Given the description of an element on the screen output the (x, y) to click on. 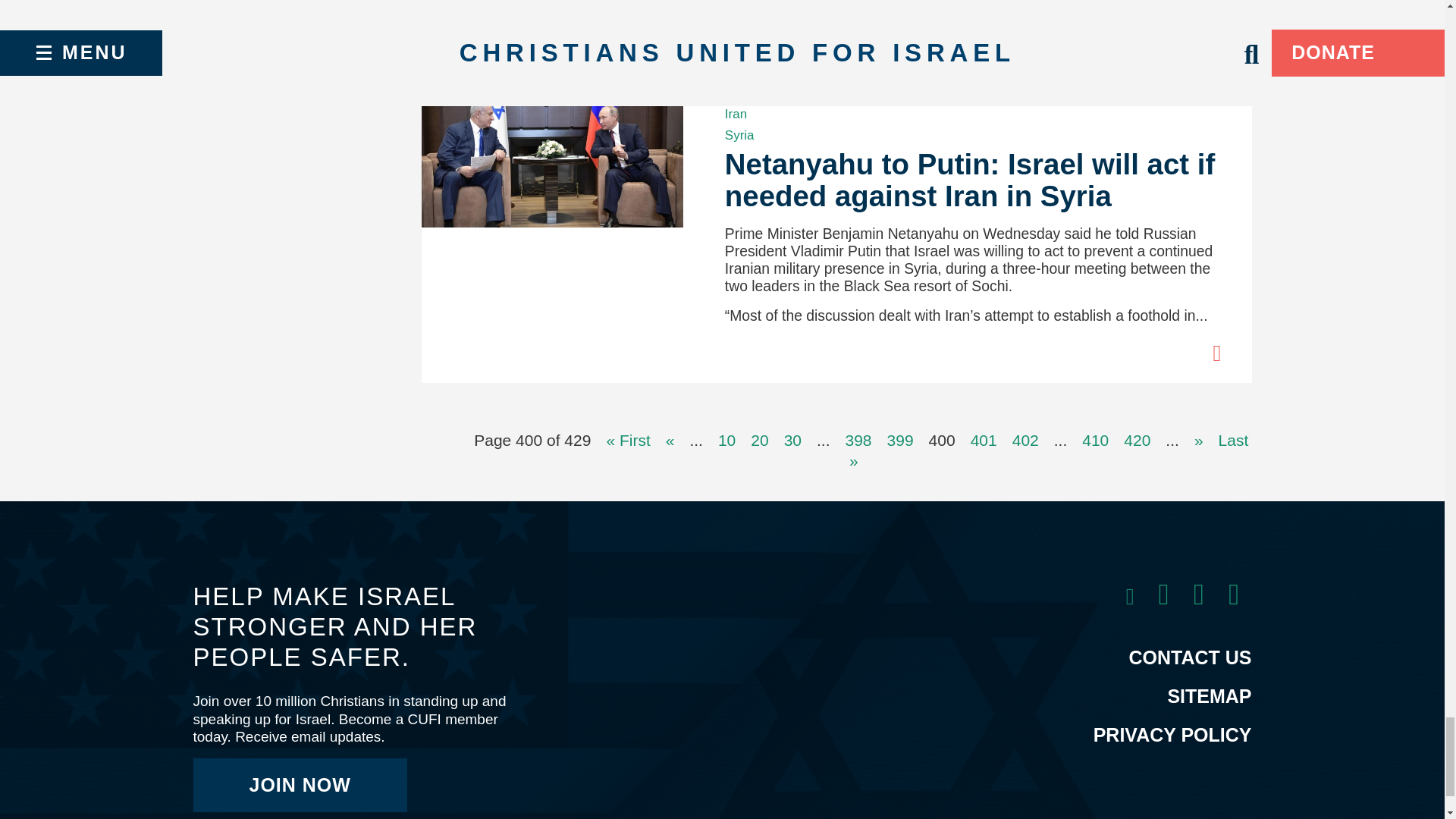
Page 399 (900, 439)
Page 398 (858, 439)
Page 410 (1094, 439)
Page 401 (984, 439)
Page 10 (726, 439)
Page 30 (793, 439)
Page 420 (1137, 439)
Page 402 (1025, 439)
Page 20 (759, 439)
